Given the description of an element on the screen output the (x, y) to click on. 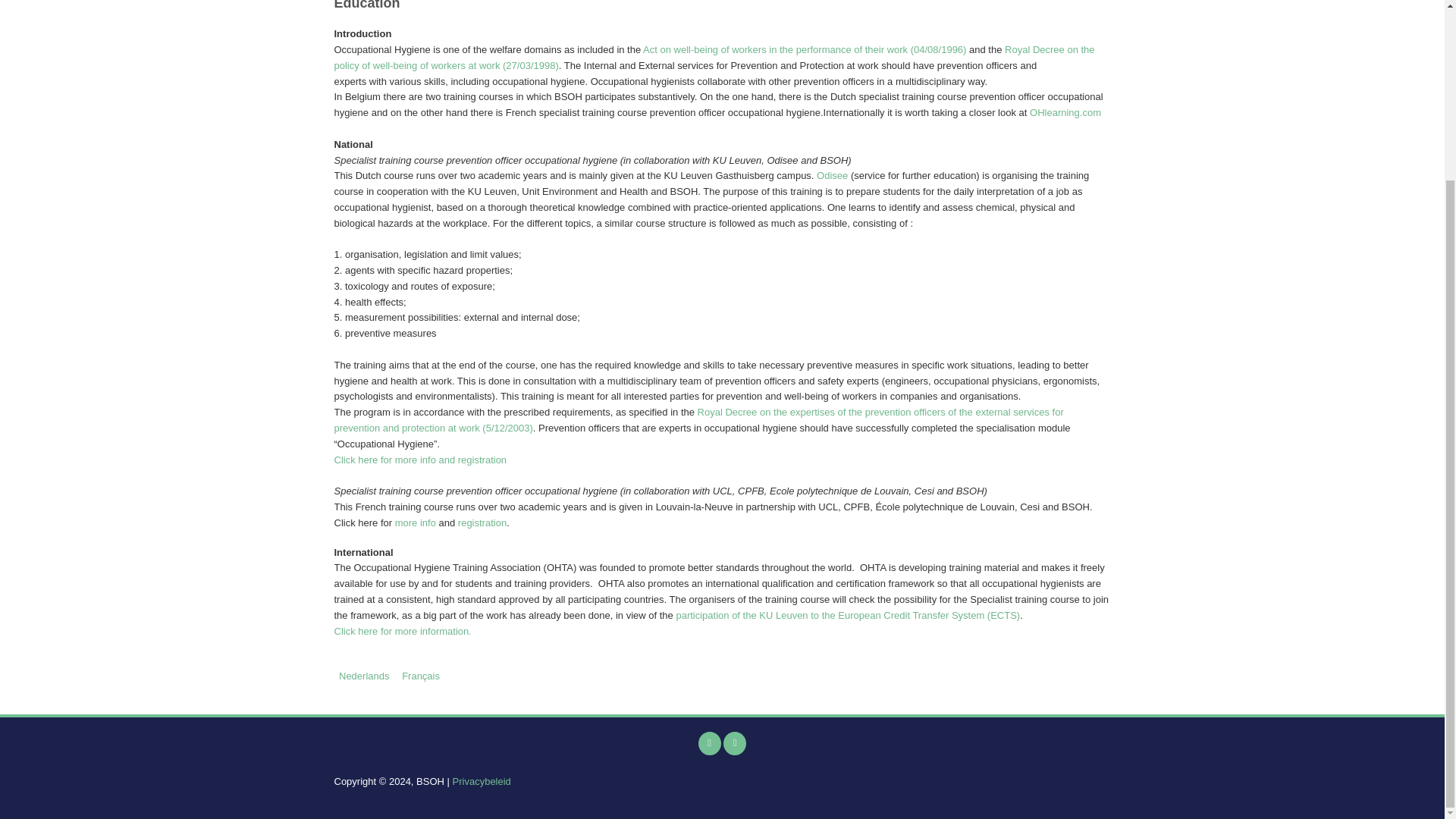
Opleiding (364, 675)
Formation (420, 675)
